Given the description of an element on the screen output the (x, y) to click on. 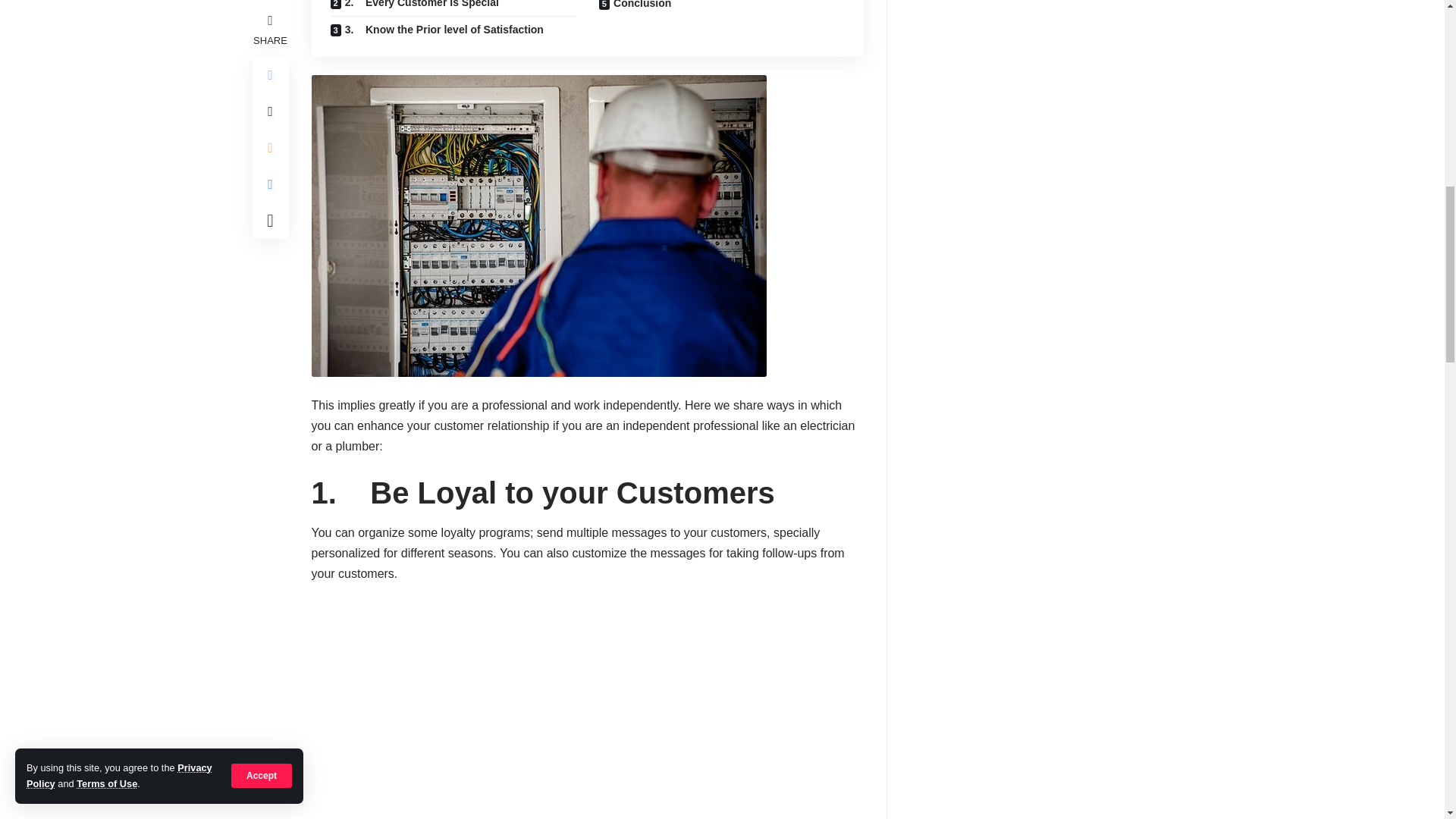
Advertisement (587, 707)
